Given the description of an element on the screen output the (x, y) to click on. 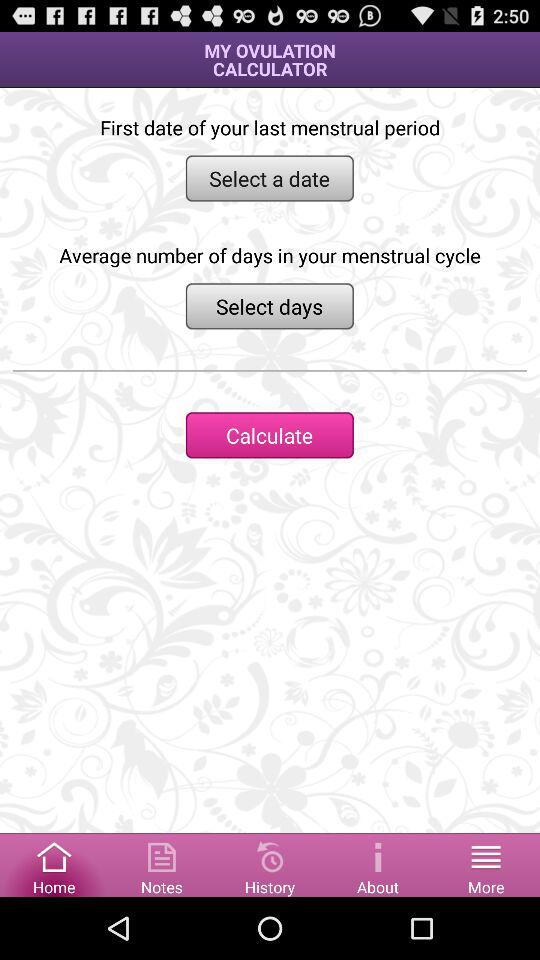
go home (54, 864)
